Given the description of an element on the screen output the (x, y) to click on. 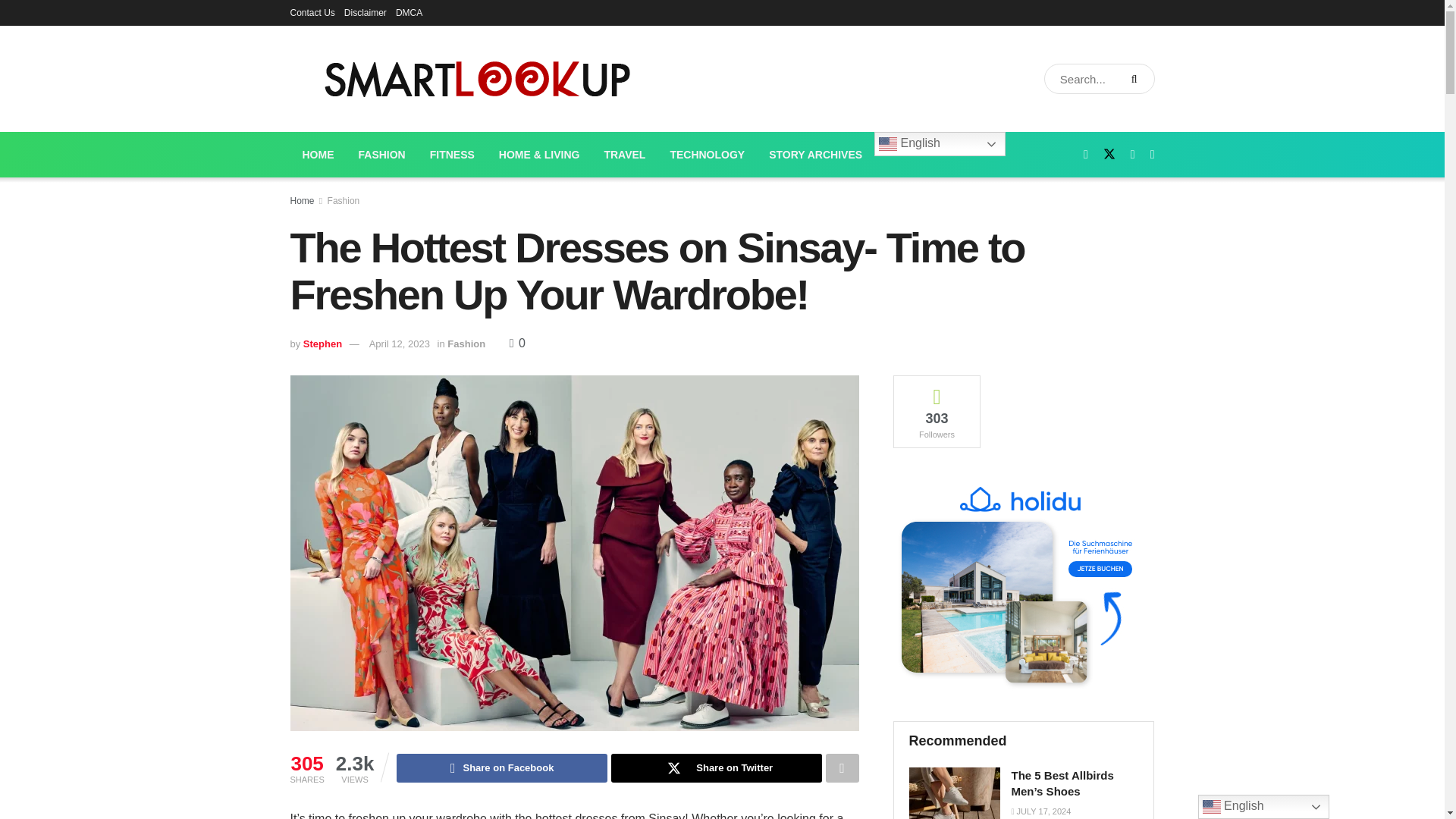
HOME (317, 154)
Contact Us (311, 12)
English (940, 143)
TRAVEL (624, 154)
Disclaimer (365, 12)
DMCA (409, 12)
TECHNOLOGY (707, 154)
FITNESS (451, 154)
FASHION (381, 154)
STORY ARCHIVES (816, 154)
